Given the description of an element on the screen output the (x, y) to click on. 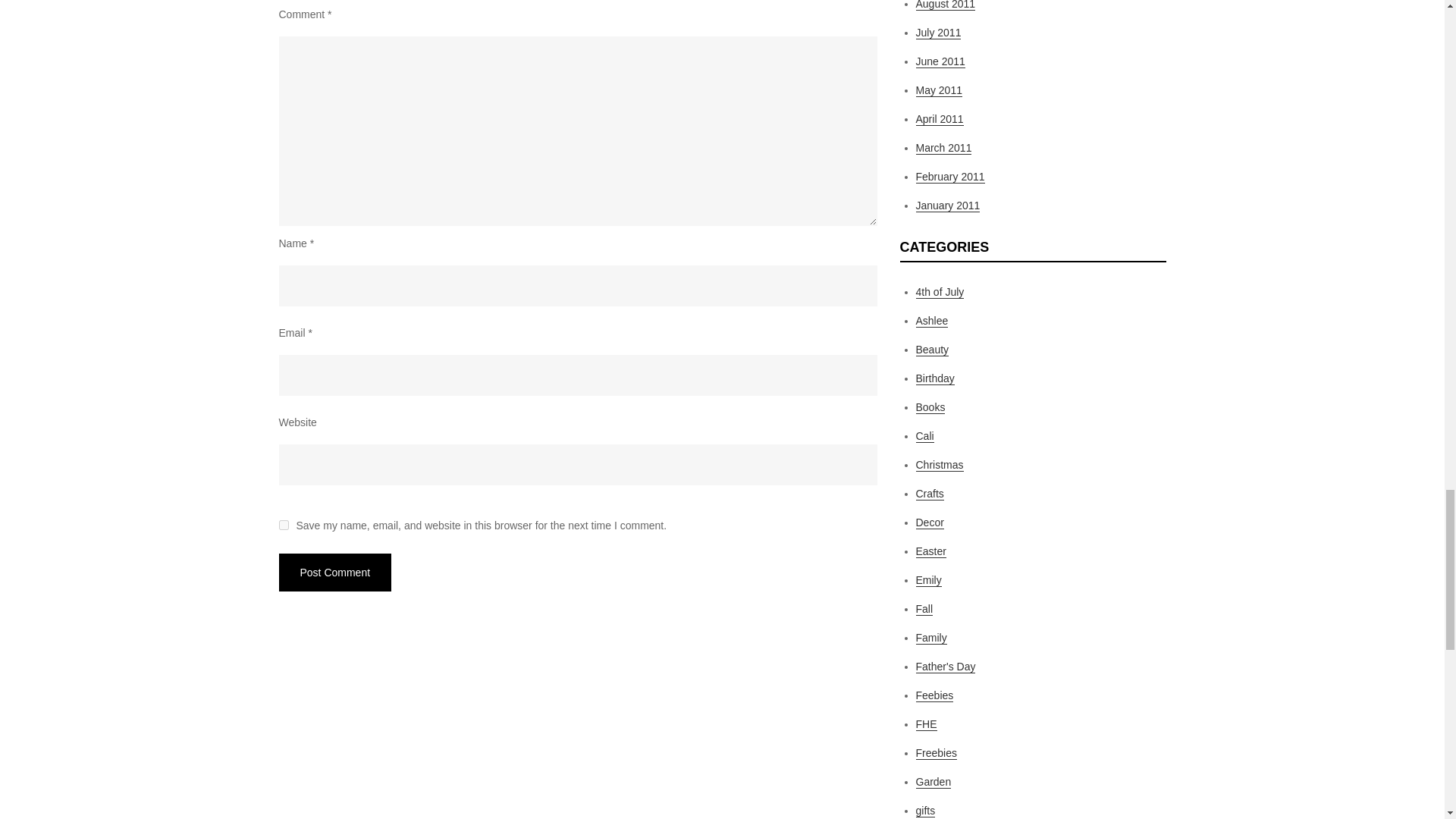
yes (283, 524)
Post Comment (335, 572)
